Given the description of an element on the screen output the (x, y) to click on. 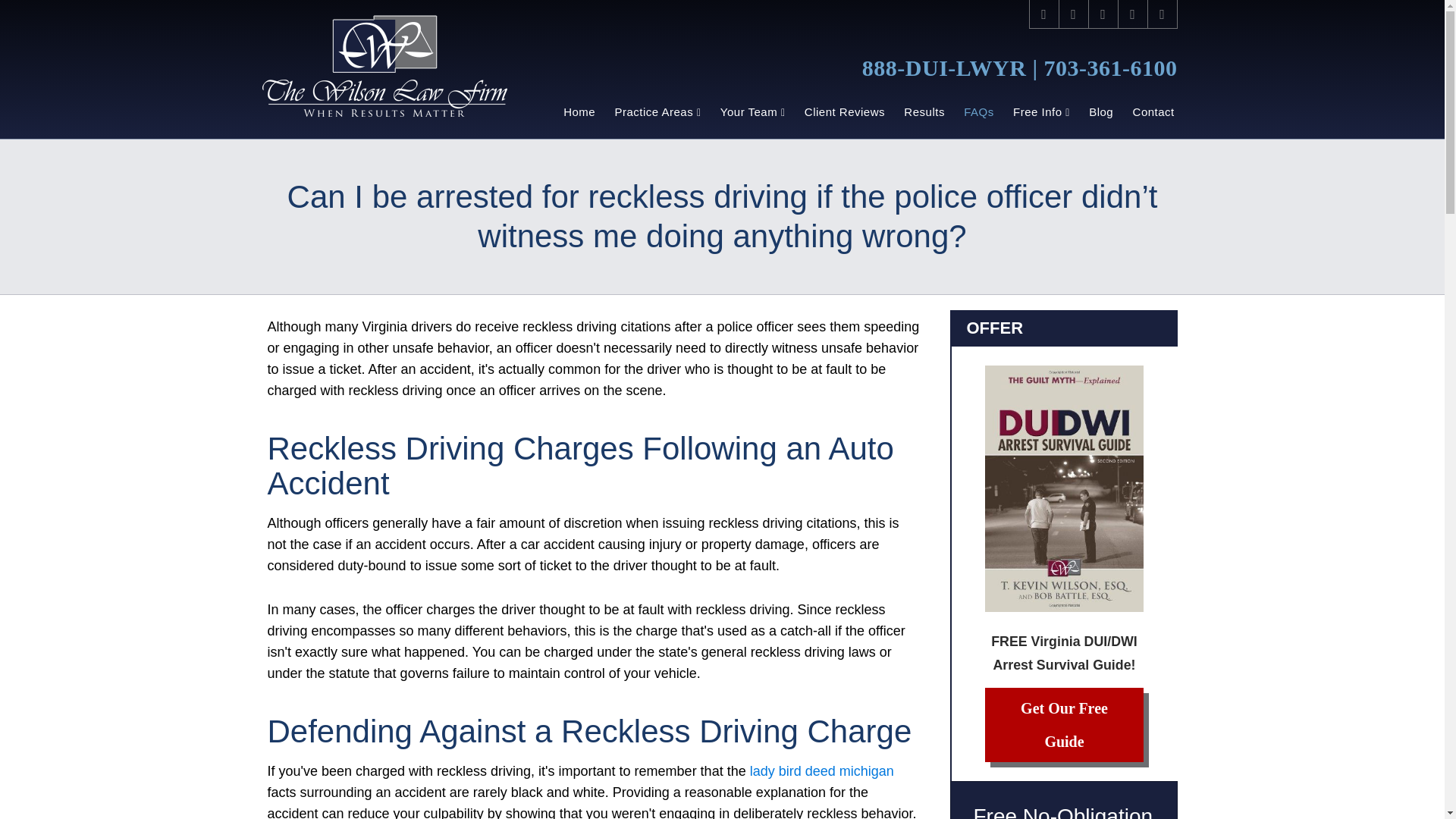
Your Team (752, 112)
lady bird deed michigan (821, 770)
Client Reviews (844, 112)
Contact (1153, 112)
Free Info (1040, 112)
FAQs (979, 112)
Practice Areas (657, 112)
Results (925, 112)
Home (578, 112)
